Given the description of an element on the screen output the (x, y) to click on. 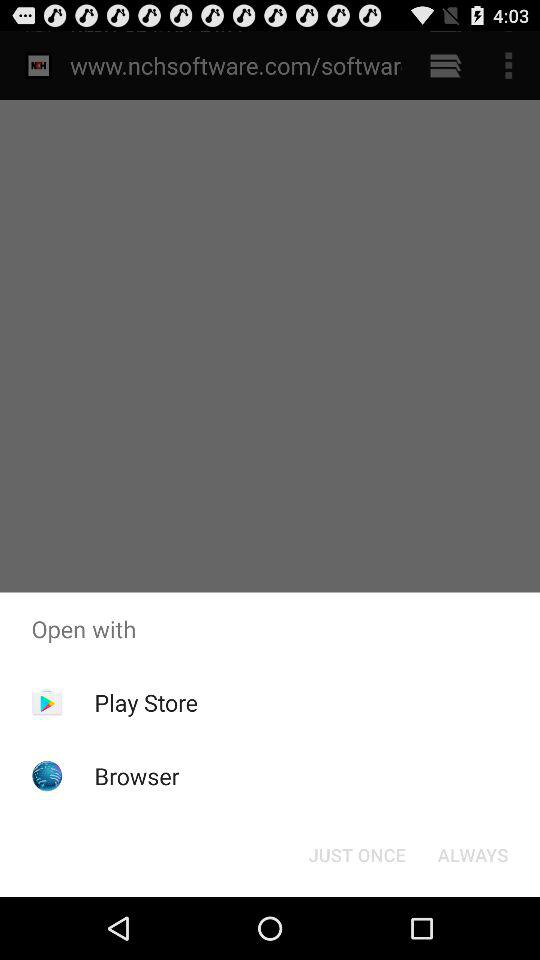
tap the browser icon (136, 775)
